Given the description of an element on the screen output the (x, y) to click on. 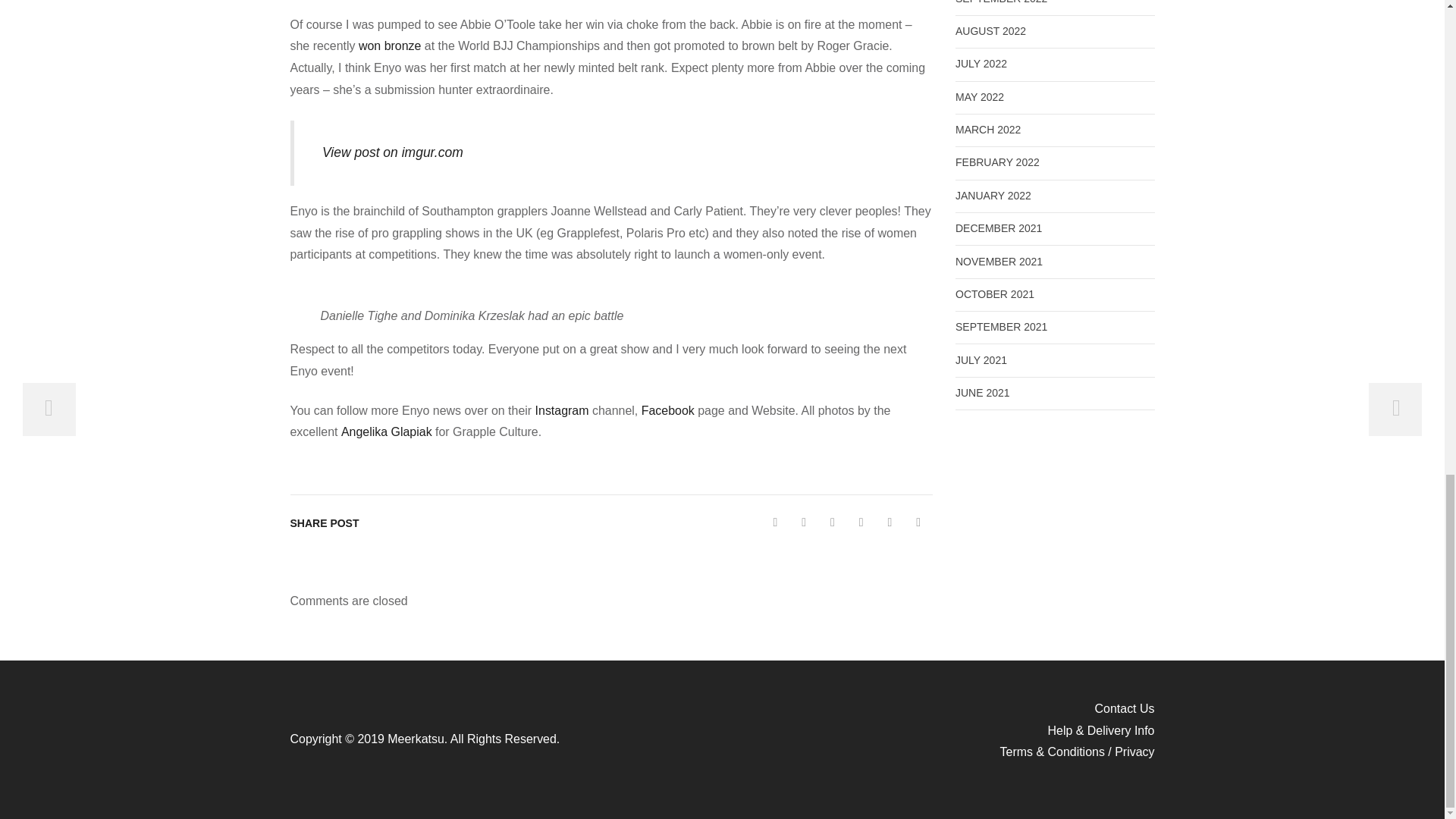
Mail to friend (918, 522)
Twitter (775, 522)
VK (832, 522)
Facebook (803, 522)
Pinterest (861, 522)
